Given the description of an element on the screen output the (x, y) to click on. 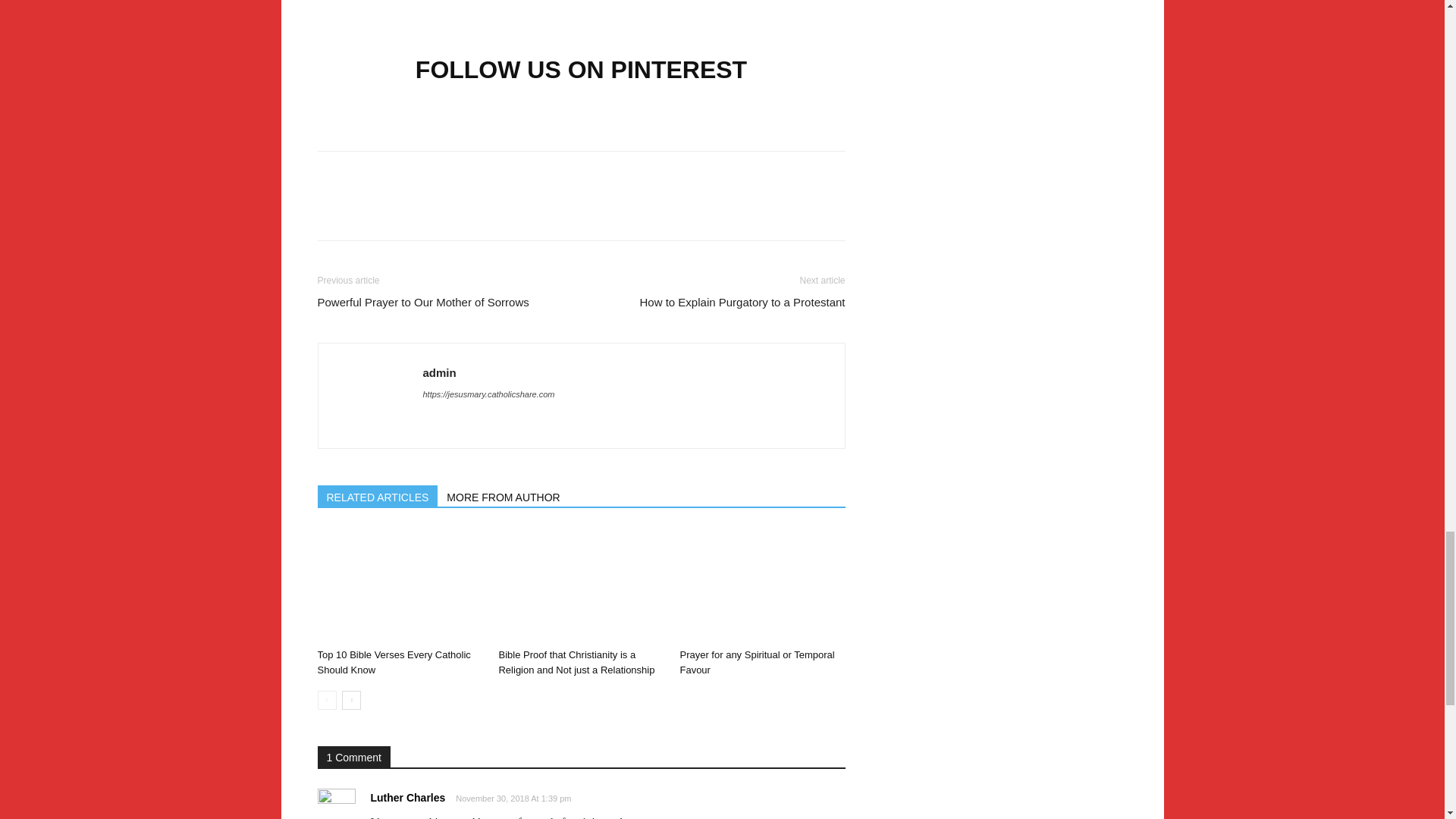
Top 10 Bible Verses Every Catholic Should Know (399, 585)
Prayer for any Spiritual or Temporal Favour (756, 662)
Prayer for any Spiritual or Temporal Favour (761, 585)
Top 10 Bible Verses Every Catholic Should Know (393, 662)
